Given the description of an element on the screen output the (x, y) to click on. 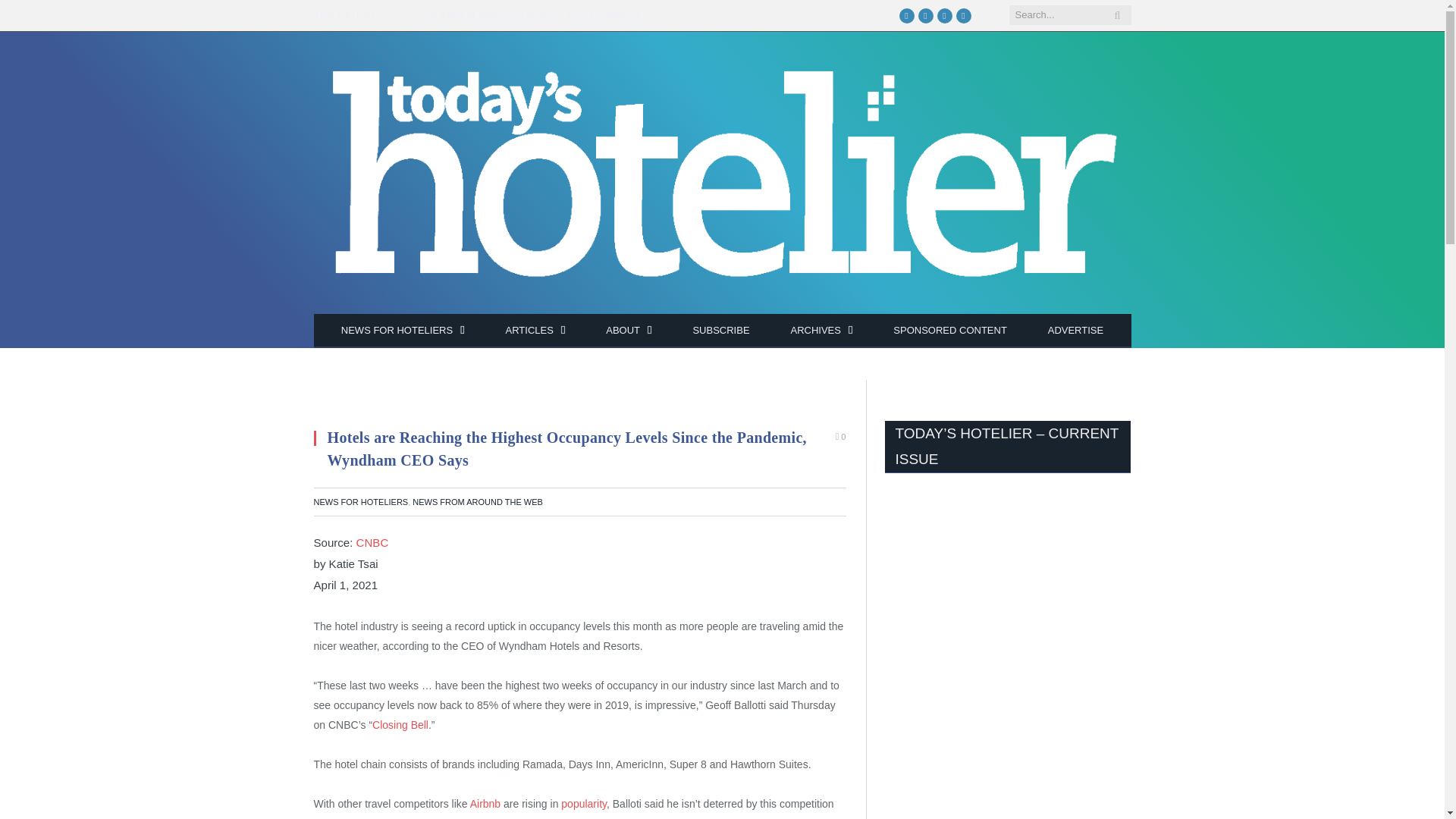
ARTICLES (535, 330)
ARCHIVES (820, 330)
Facebook (906, 15)
How AAHOA advocacy protects your profitability (531, 15)
Facebook (906, 15)
LinkedIn (963, 15)
YouTube (944, 15)
Twitter (925, 15)
LinkedIn (963, 15)
Today's Hotelier magazine (722, 175)
ABOUT (627, 330)
SUBSCRIBE (720, 330)
NEWS FOR HOTELIERS (402, 330)
Twitter (925, 15)
